Given the description of an element on the screen output the (x, y) to click on. 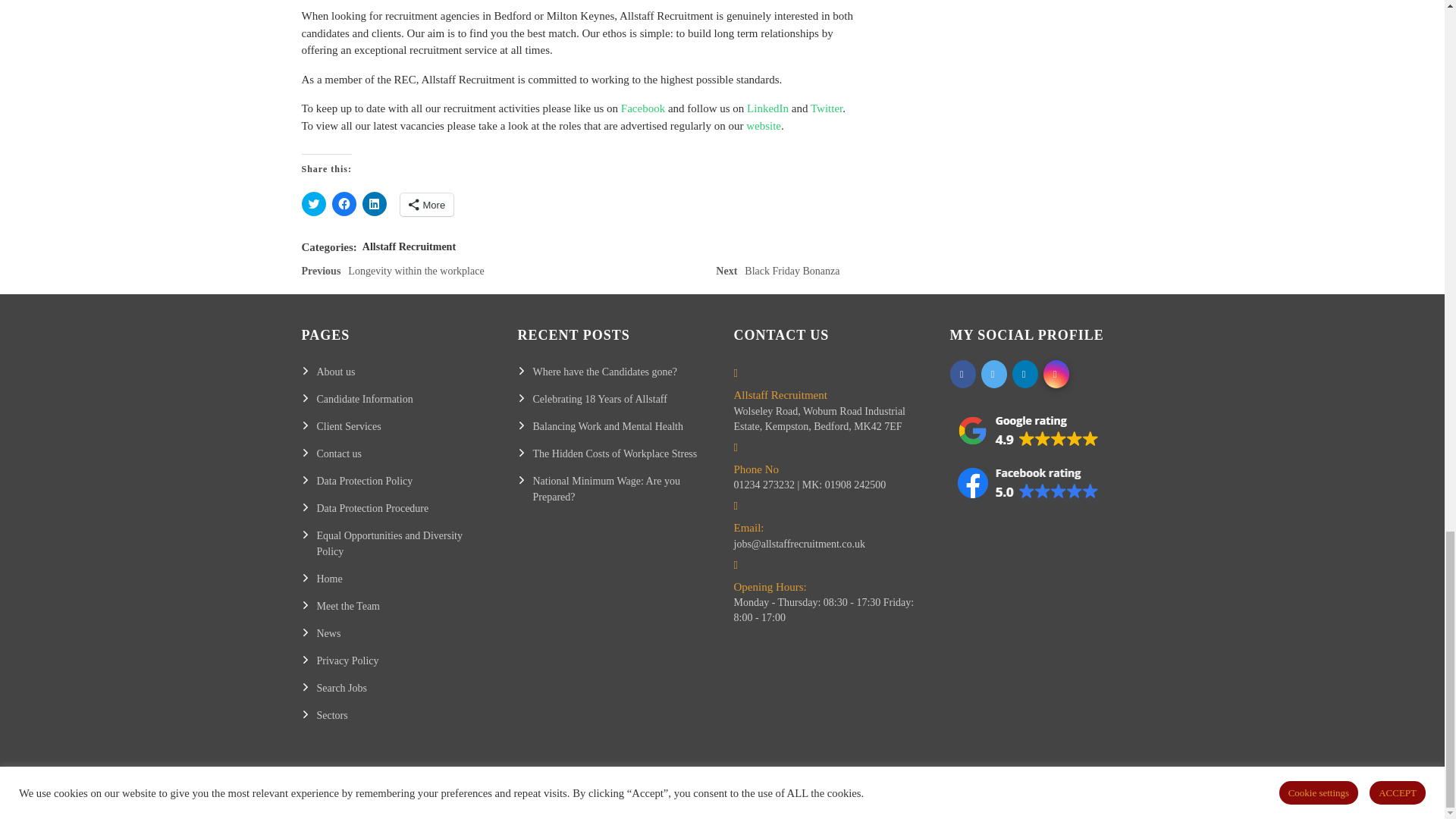
Allstaff Recruitment (408, 246)
More (781, 274)
LinkedIn (427, 204)
Twitter (767, 108)
Click to share on LinkedIn (826, 108)
Click to share on Twitter (374, 203)
Click to share on Facebook (313, 203)
website (343, 203)
Facebook (762, 125)
